Given the description of an element on the screen output the (x, y) to click on. 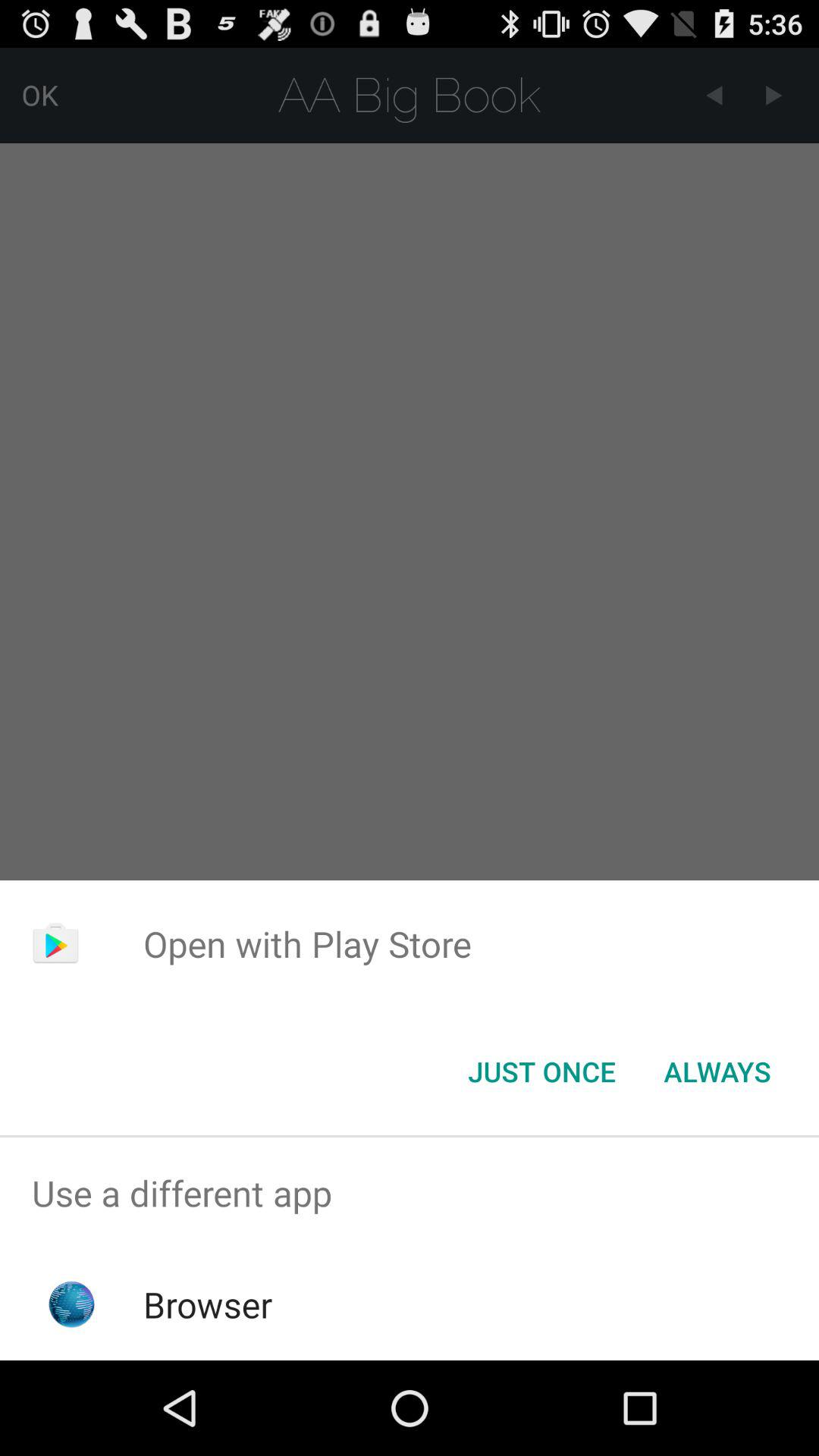
turn off the icon at the bottom right corner (717, 1071)
